Given the description of an element on the screen output the (x, y) to click on. 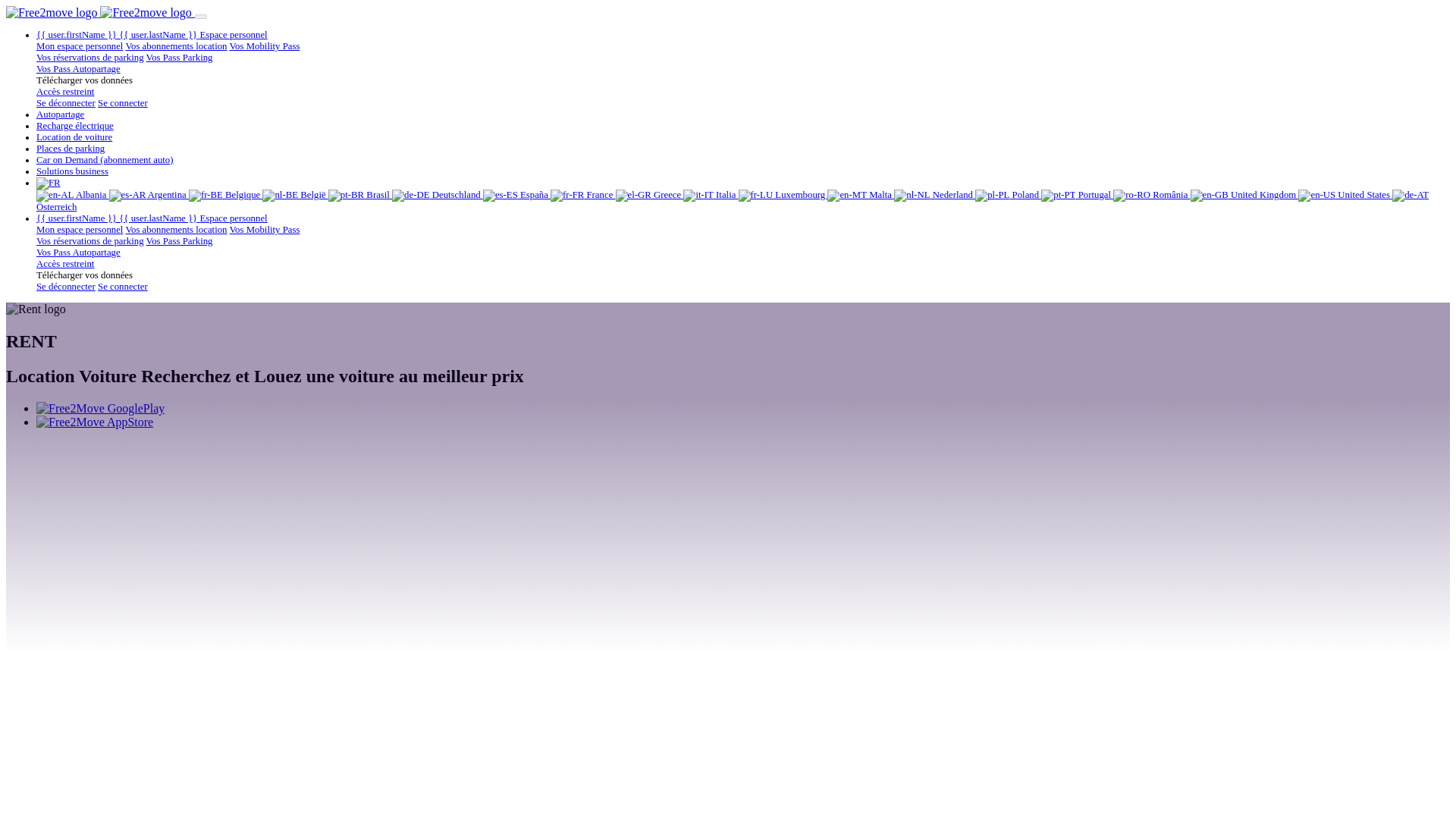
Malta (860, 194)
Greece (649, 194)
Mon espace personnel (79, 45)
Albania (72, 194)
Vos Pass Autopartage (78, 68)
United Kingdom (1244, 194)
Location de voiture (74, 136)
Vos abonnements location (176, 45)
Solutions business (71, 171)
United States (1344, 194)
Places de parking (70, 148)
Poland (1008, 194)
Deutschland (437, 194)
Belgique (226, 194)
Se connecter (122, 102)
